Given the description of an element on the screen output the (x, y) to click on. 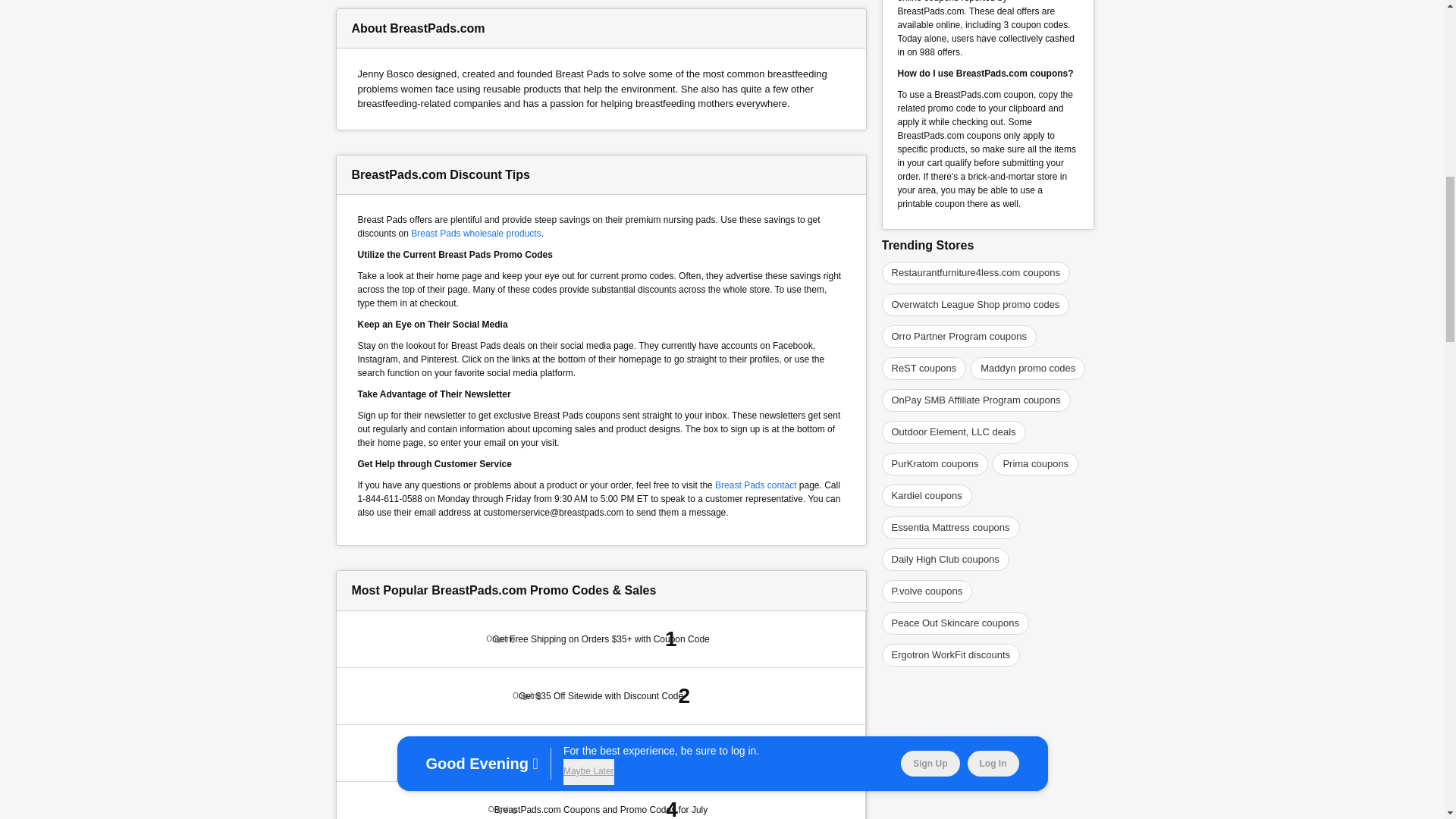
Breast Pads wholesale products (475, 232)
Breast Pads contact (755, 484)
